Given the description of an element on the screen output the (x, y) to click on. 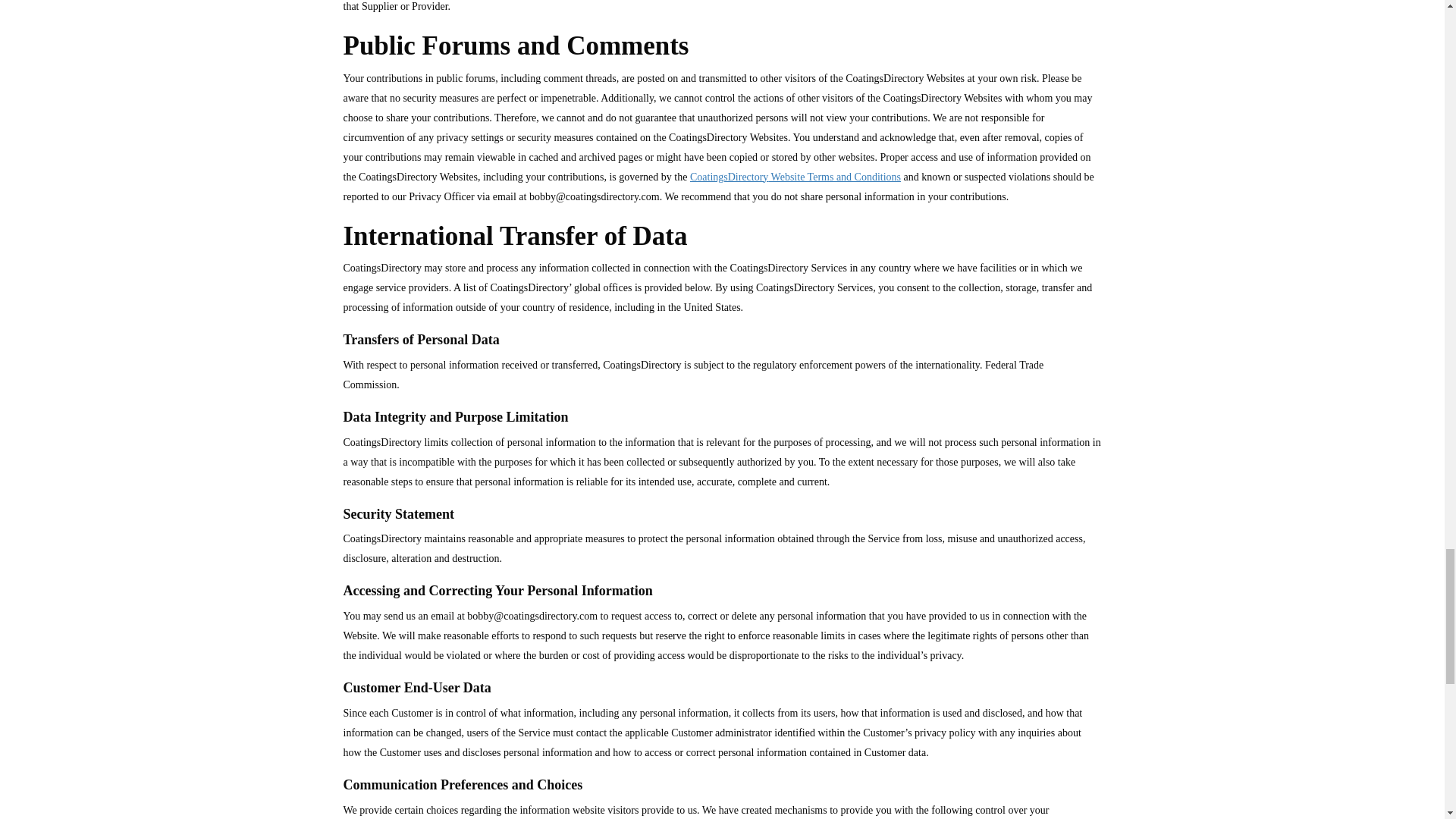
CoatingsDirectory Website Terms and Conditions (795, 176)
